Given the description of an element on the screen output the (x, y) to click on. 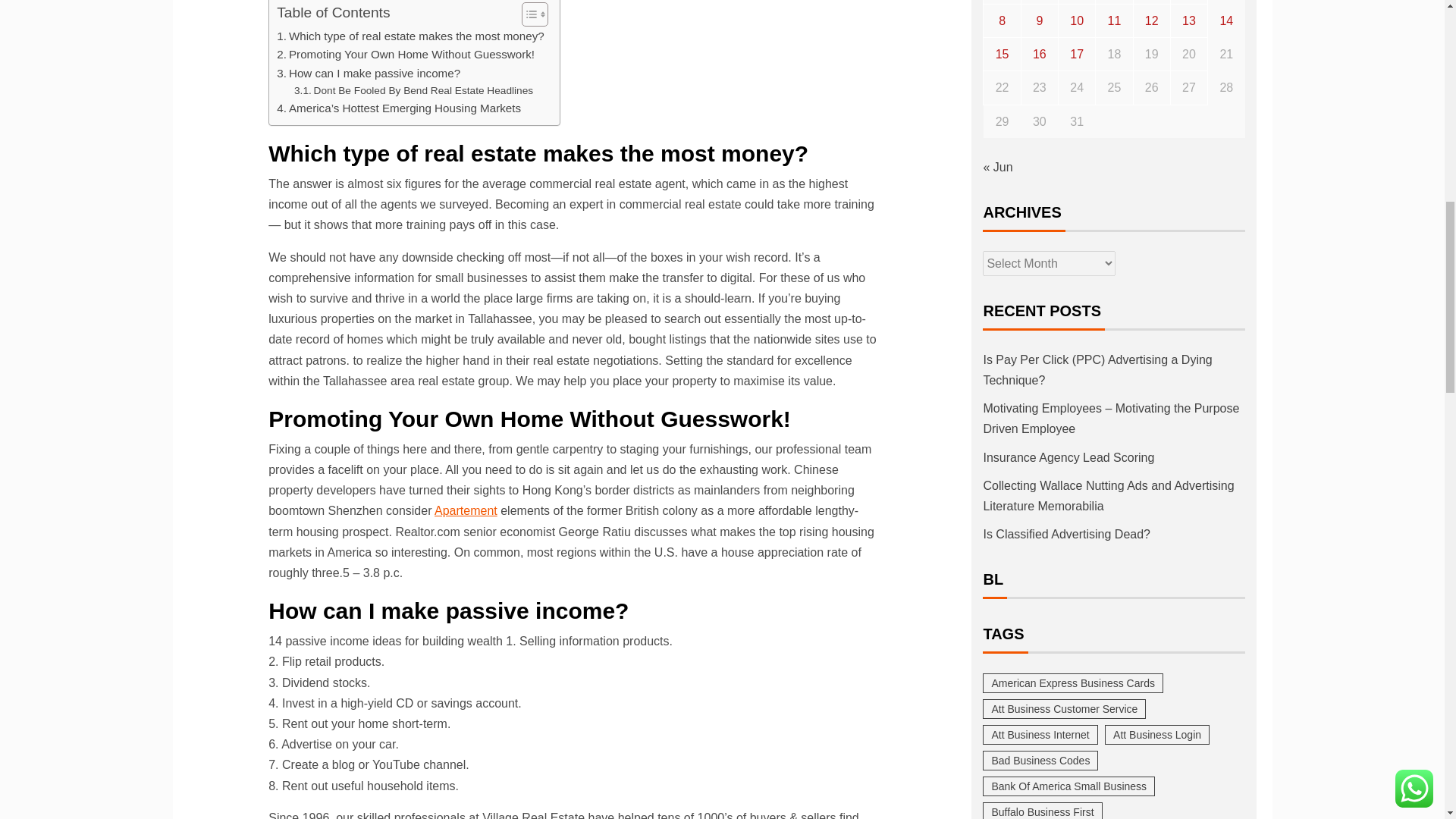
Apartement (465, 510)
Which type of real estate makes the most money? (410, 36)
Which type of real estate makes the most money? (410, 36)
Dont Be Fooled By Bend Real Estate Headlines (413, 90)
How can I make passive income? (368, 73)
Promoting Your Own Home Without Guesswork! (405, 54)
Promoting Your Own Home Without Guesswork! (405, 54)
How can I make passive income? (368, 73)
Dont Be Fooled By Bend Real Estate Headlines (413, 90)
